Given the description of an element on the screen output the (x, y) to click on. 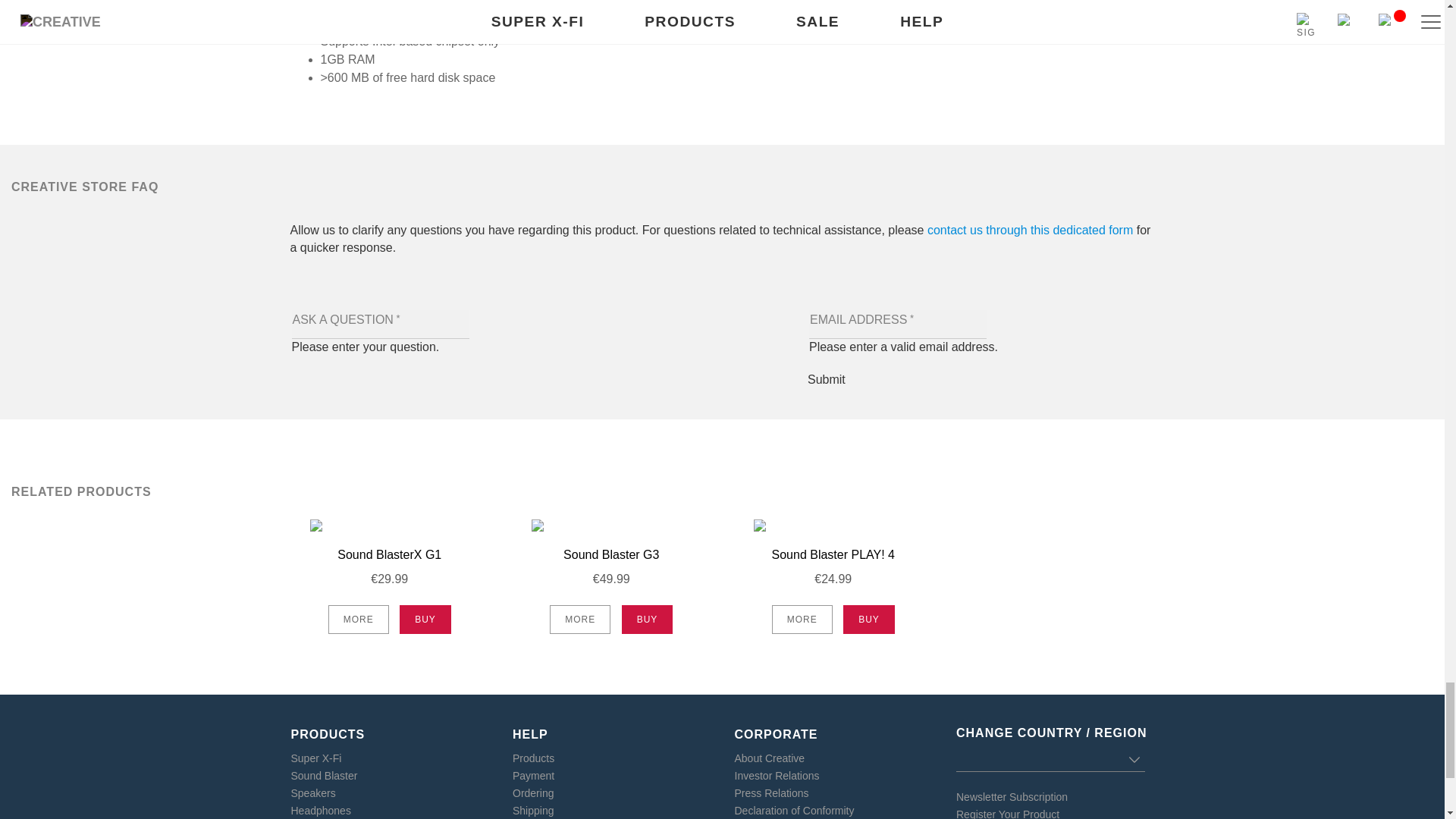
MORE (358, 619)
Sound BlasterX G1 (389, 555)
BUY (424, 619)
contact us through this dedicated form (1029, 230)
Sound Blaster G3 (611, 555)
